Given the description of an element on the screen output the (x, y) to click on. 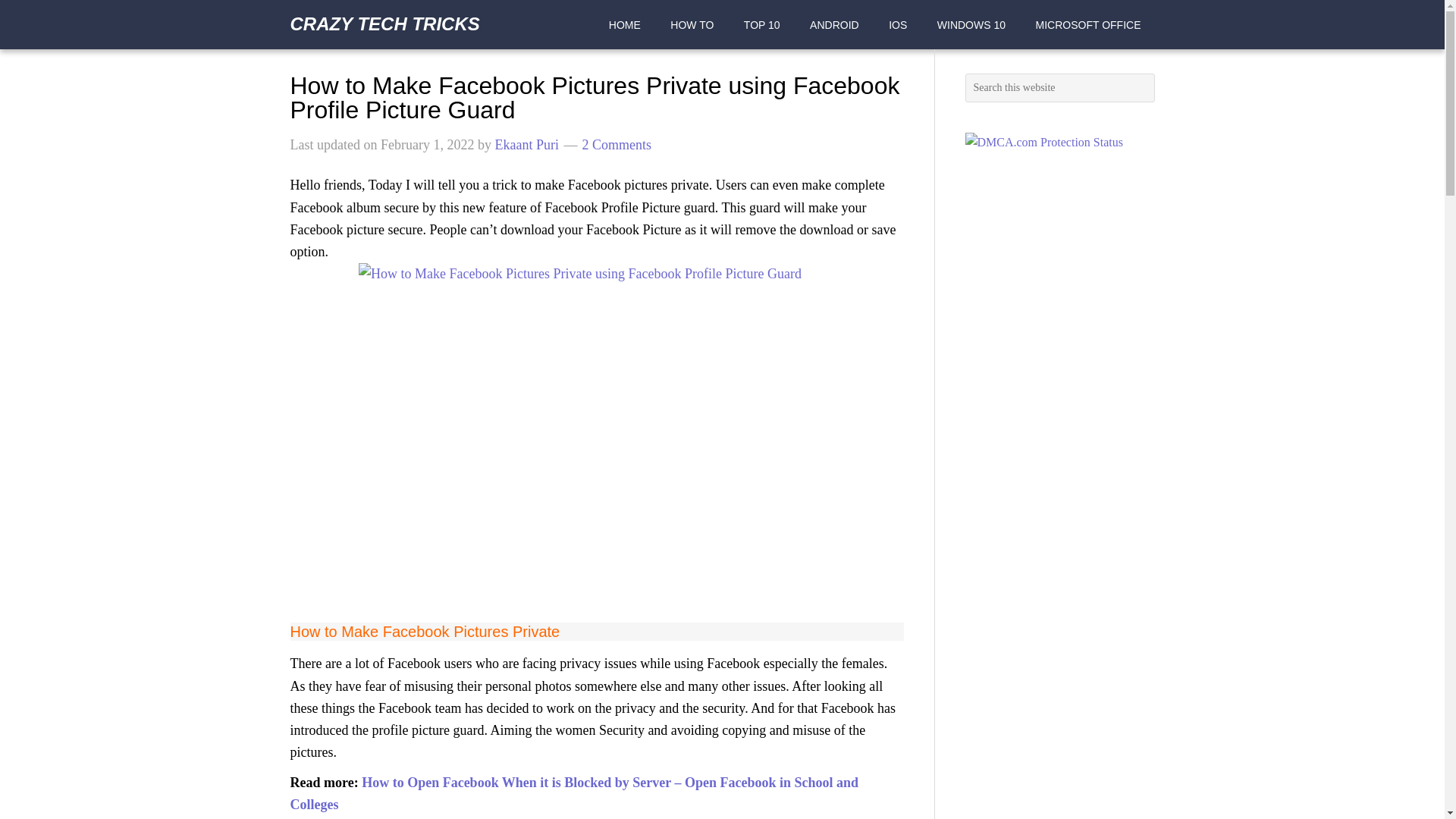
ANDROID (834, 24)
DMCA.com Protection Status (1042, 141)
Ekaant Puri (526, 144)
WINDOWS 10 (971, 24)
HOME (624, 24)
CRAZY TECH TRICKS (384, 23)
TOP 10 (761, 24)
